Given the description of an element on the screen output the (x, y) to click on. 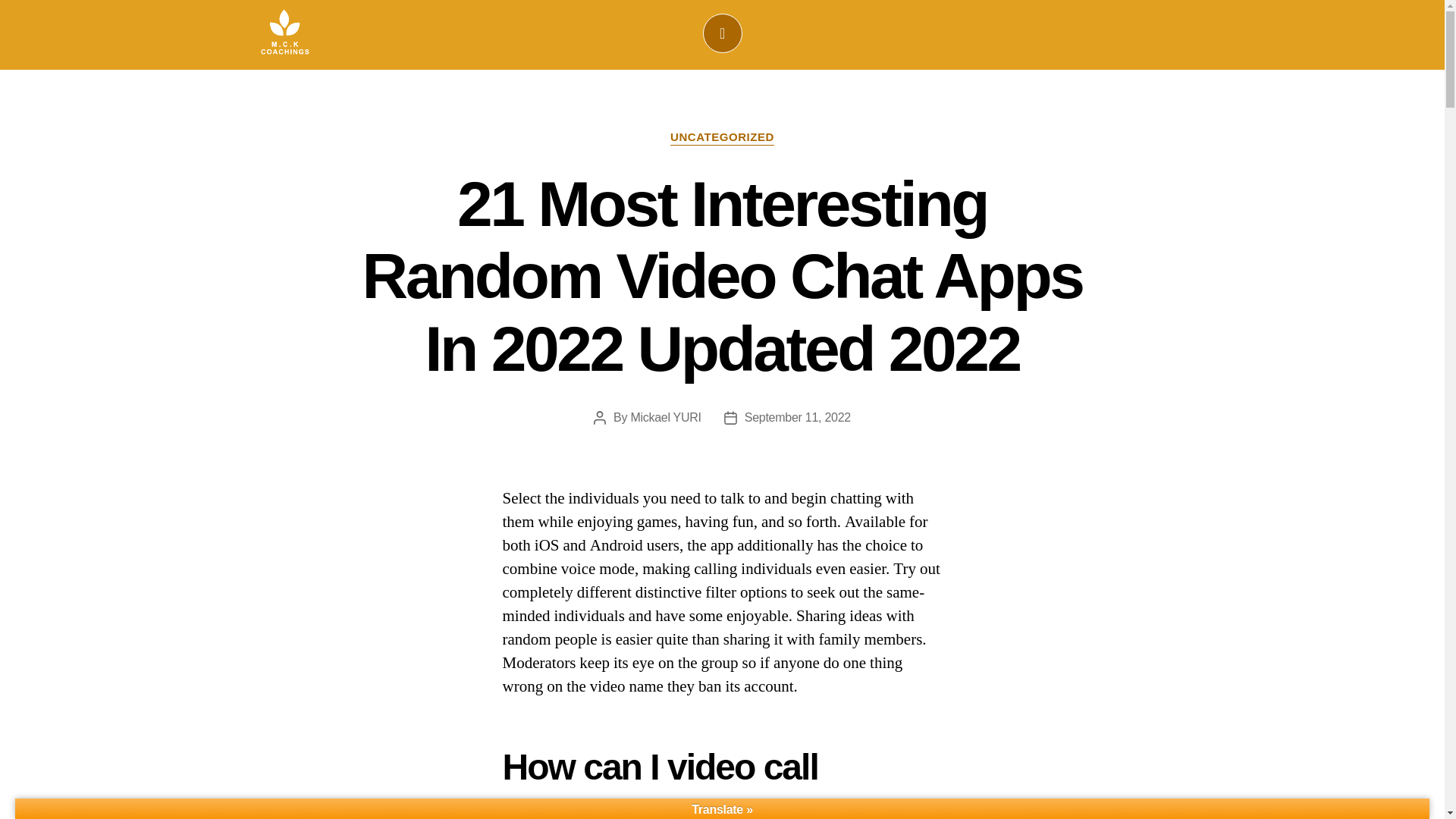
Mickael YURI (665, 417)
September 11, 2022 (797, 417)
UNCATEGORIZED (721, 137)
